Given the description of an element on the screen output the (x, y) to click on. 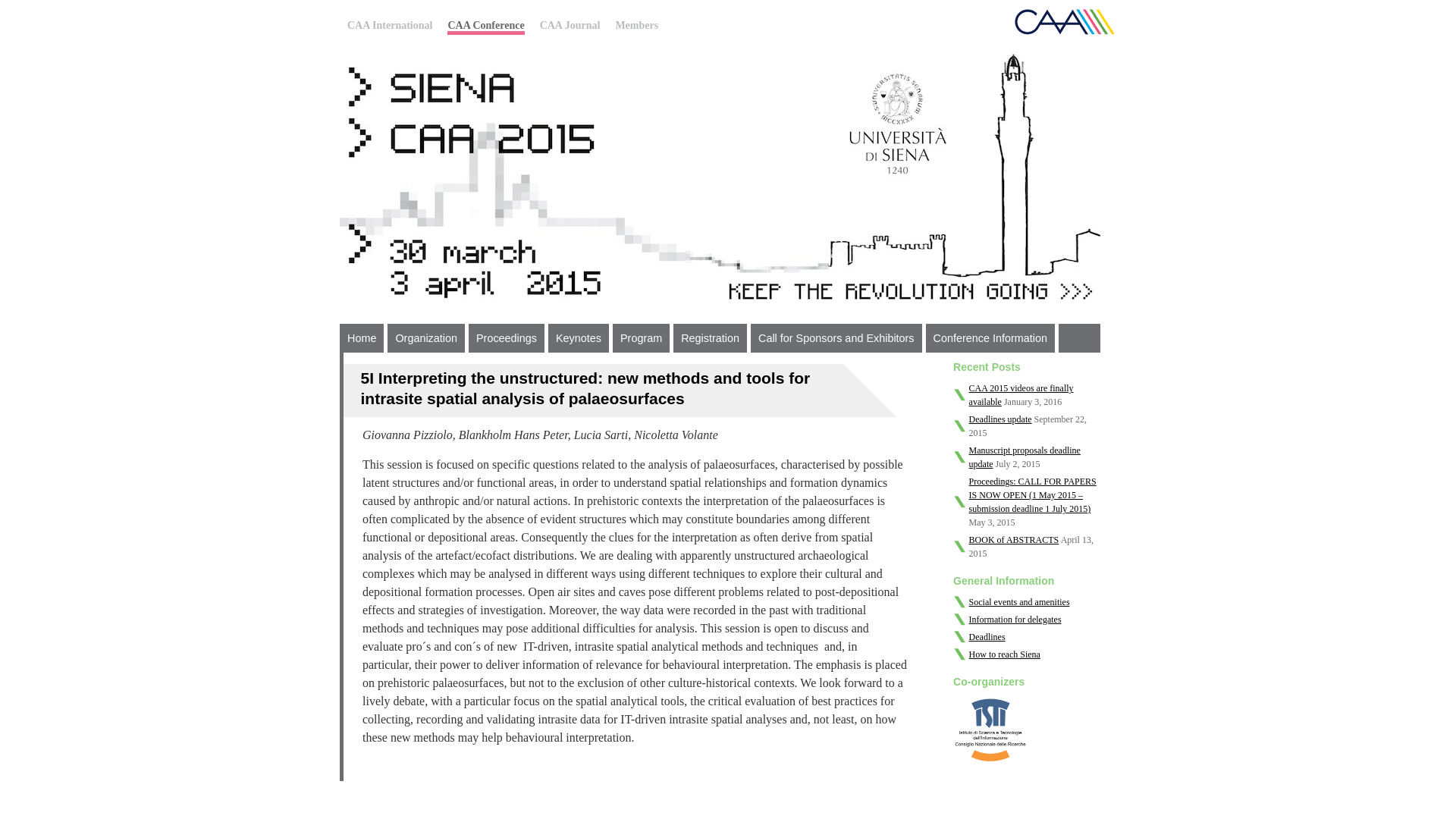
CAA International (389, 25)
CAA Conference (485, 27)
Conference Information (990, 337)
Call for Sponsors and Exhibitors (836, 337)
Registration (709, 337)
Members (636, 25)
Program (640, 337)
Deadlines update (1000, 419)
CAA 2015 videos are finally available (1021, 395)
Manuscript proposals deadline update (1024, 457)
Keynotes (578, 337)
Home (361, 337)
Organization (425, 337)
Proceedings (506, 337)
CAA Journal (569, 25)
